Given the description of an element on the screen output the (x, y) to click on. 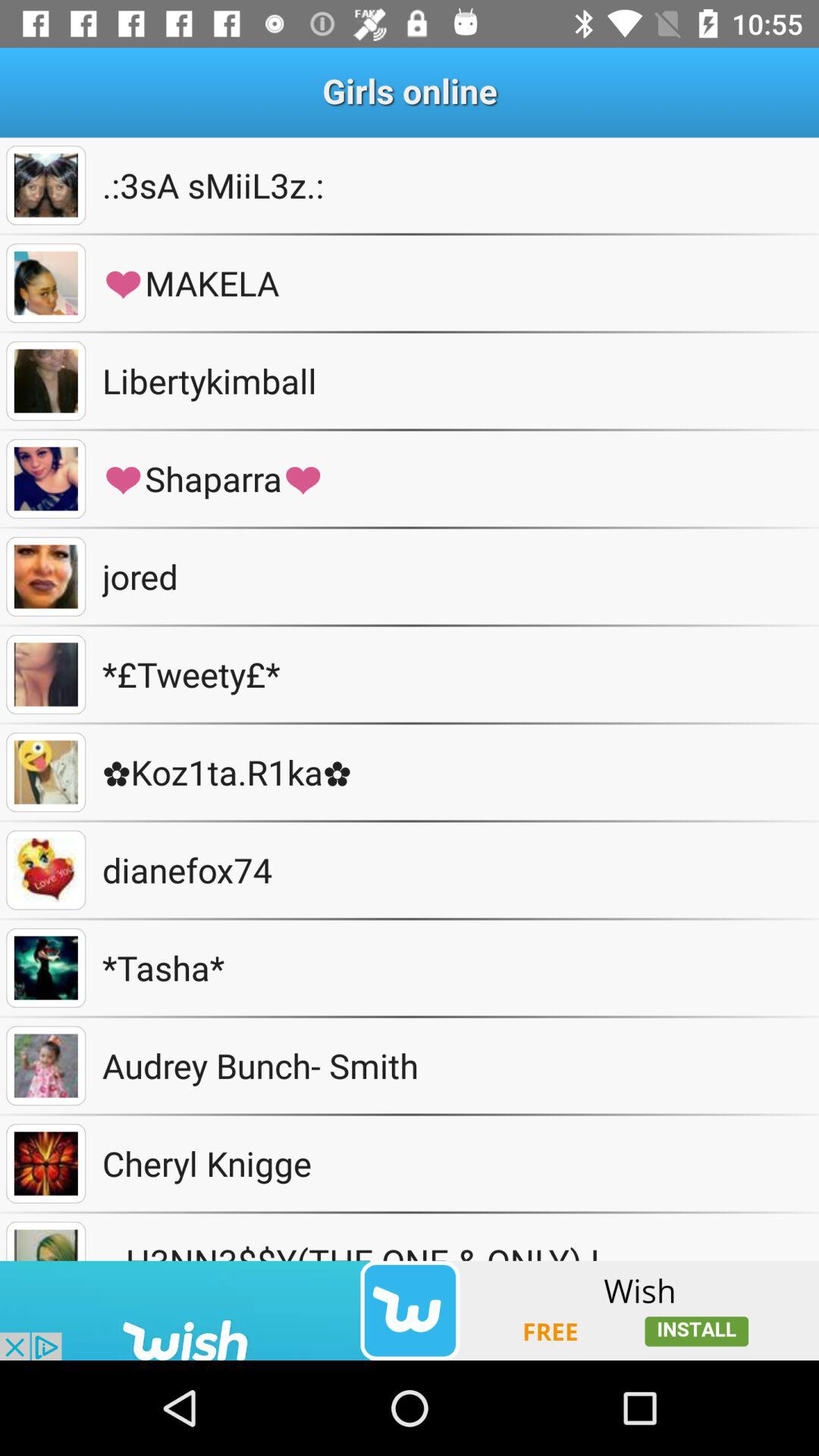
games button (45, 1163)
